Given the description of an element on the screen output the (x, y) to click on. 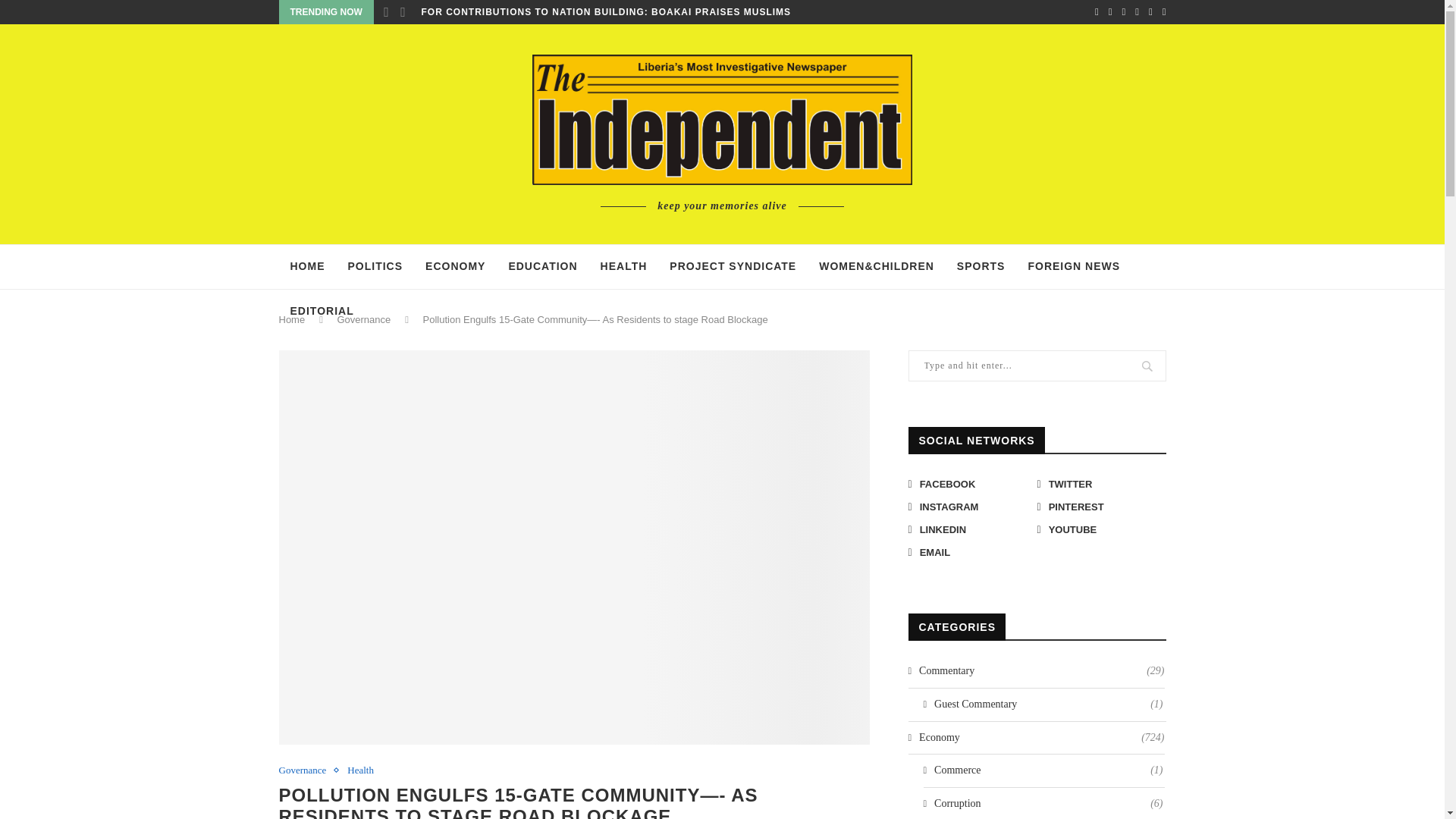
FOR CONTRIBUTIONS TO NATION BUILDING: BOAKAI PRAISES MUSLIMS (607, 12)
